Given the description of an element on the screen output the (x, y) to click on. 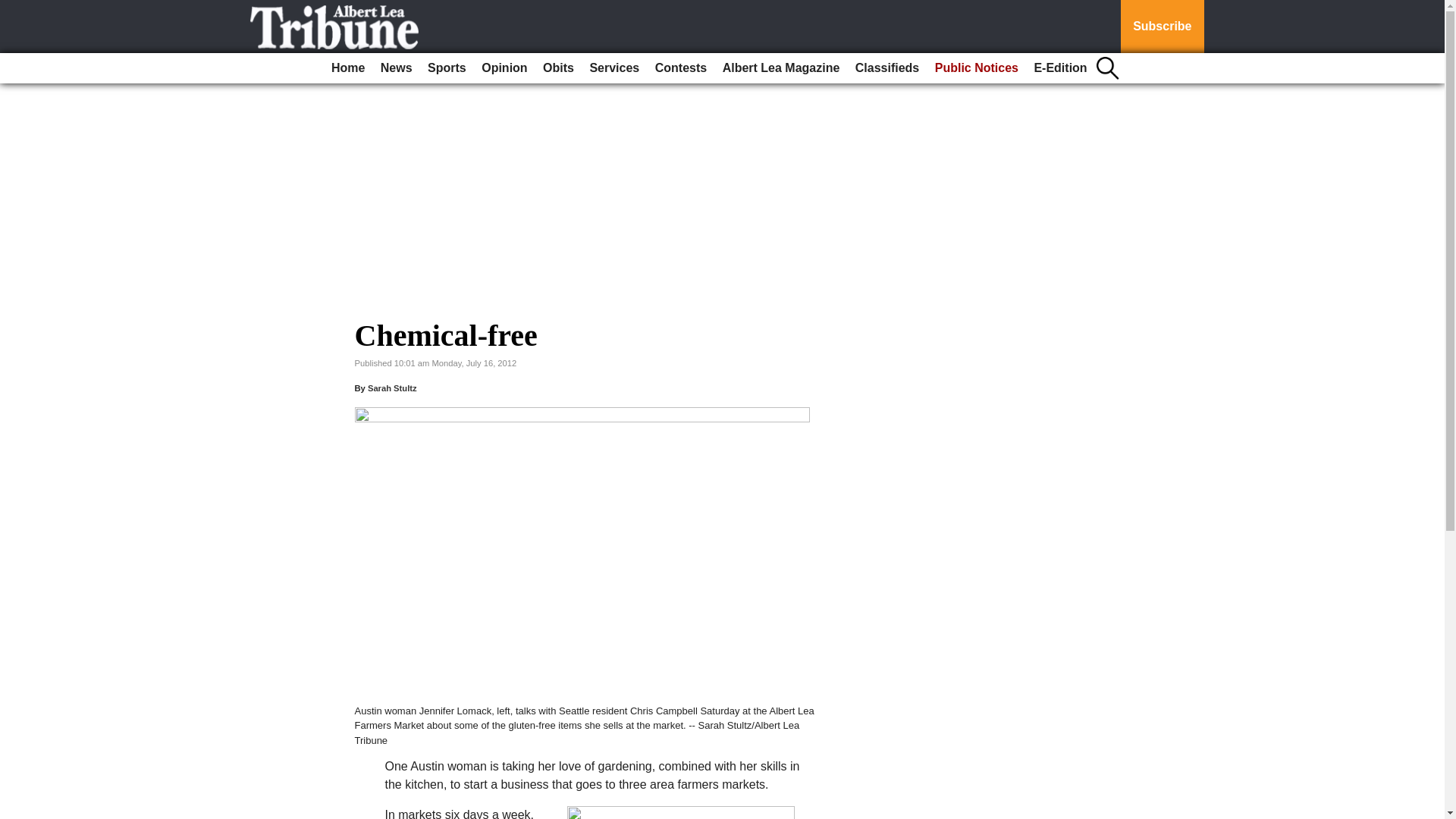
Obits (558, 68)
Home (347, 68)
Services (614, 68)
News (396, 68)
Opinion (504, 68)
0716.farmers.market.2 (680, 812)
Subscribe (1162, 26)
Sports (446, 68)
